Given the description of an element on the screen output the (x, y) to click on. 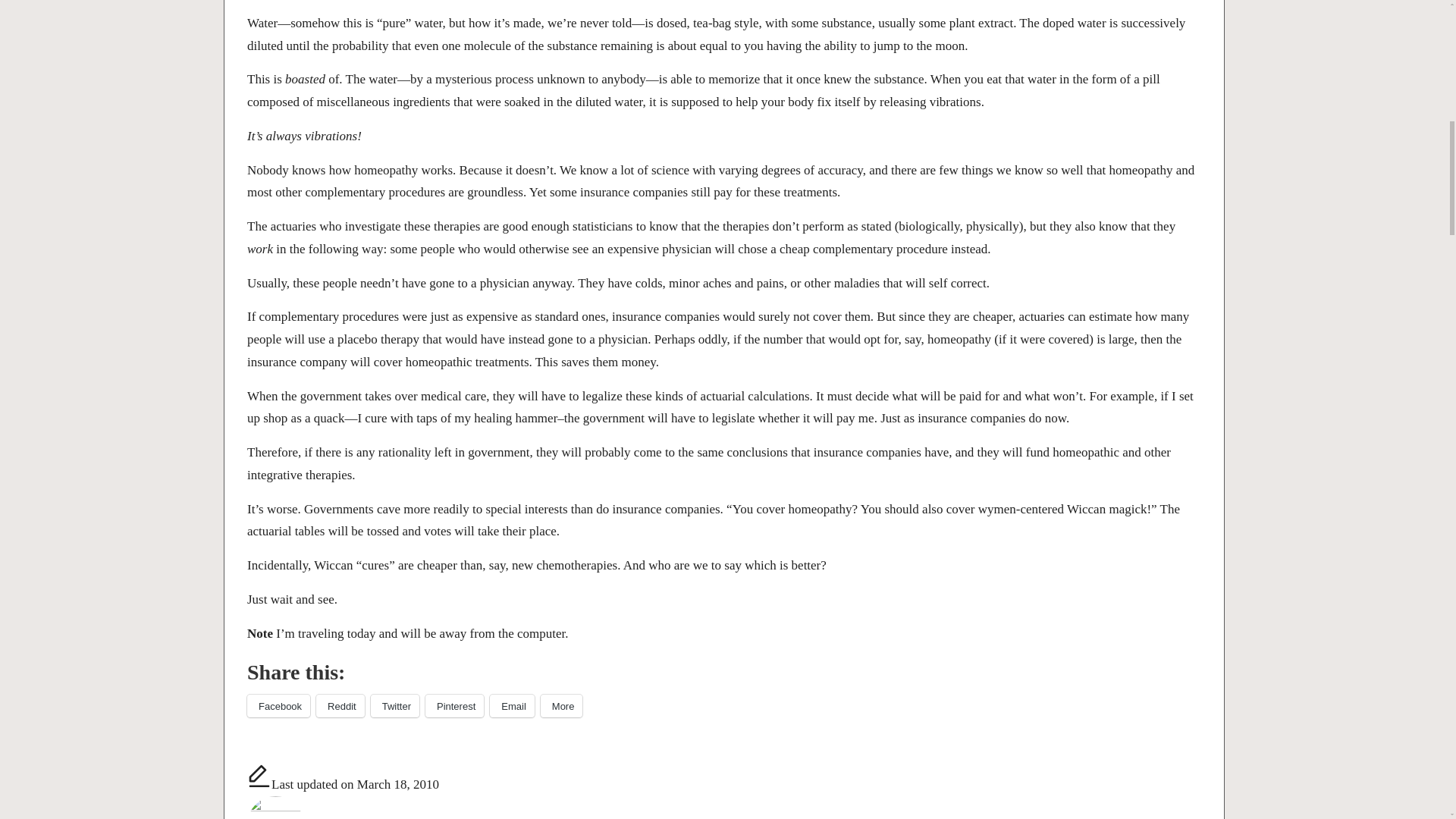
Reddit (340, 705)
More (561, 705)
Click to share on Twitter (395, 705)
Email (511, 705)
Click to email a link to a friend (511, 705)
Twitter (395, 705)
Pinterest (454, 705)
Facebook (278, 705)
Click to share on Pinterest (454, 705)
Click to share on Facebook (278, 705)
Click to share on Reddit (340, 705)
